Given the description of an element on the screen output the (x, y) to click on. 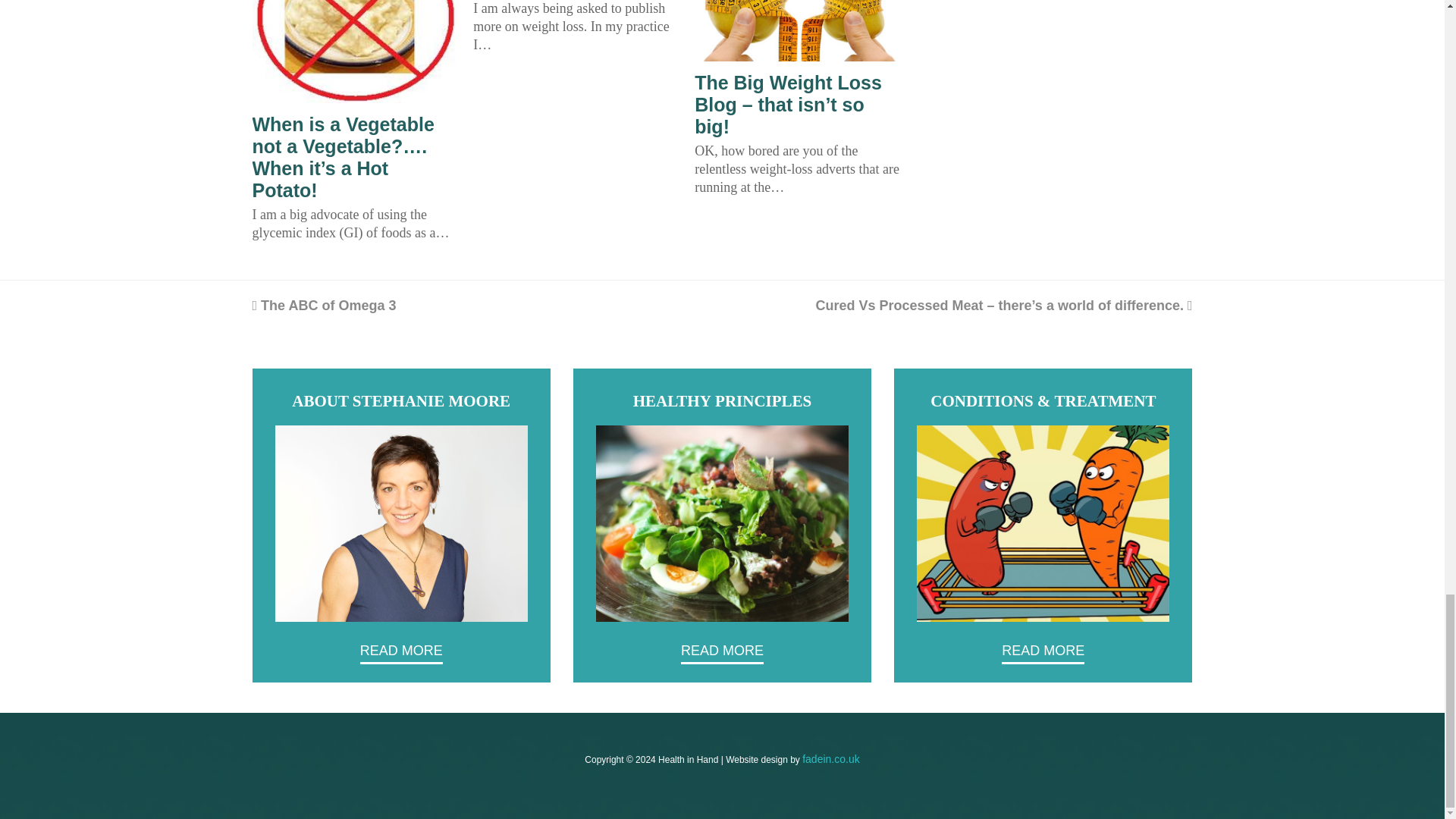
READ MORE (1042, 653)
fadein.co.uk (831, 758)
READ MORE (721, 653)
READ MORE (400, 653)
